Given the description of an element on the screen output the (x, y) to click on. 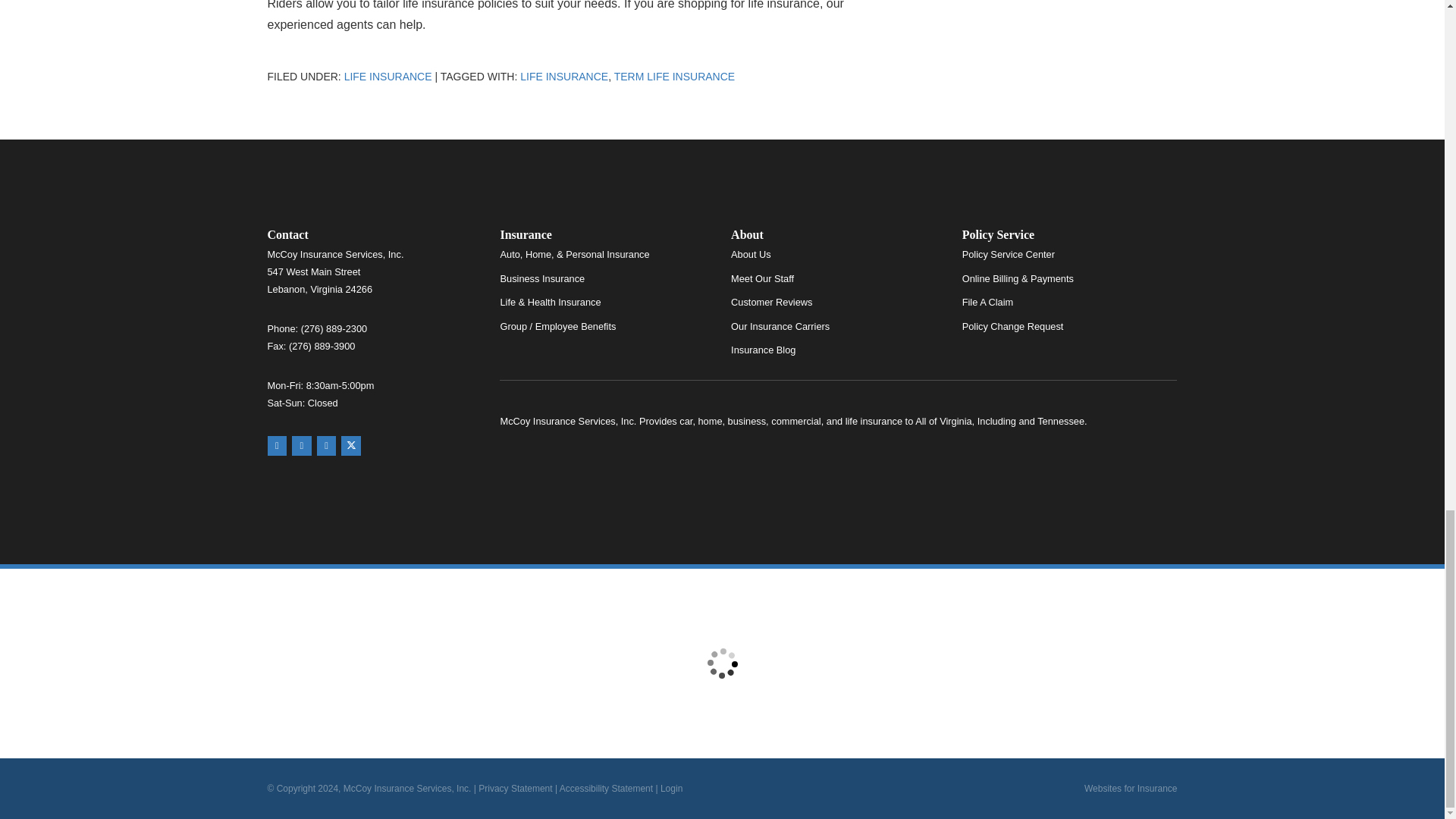
Yelp (301, 445)
Google Maps (276, 445)
X (350, 445)
Life Insurance (563, 76)
Term Life Insurance (674, 76)
Life Insurance (387, 76)
Facebook (326, 445)
